Given the description of an element on the screen output the (x, y) to click on. 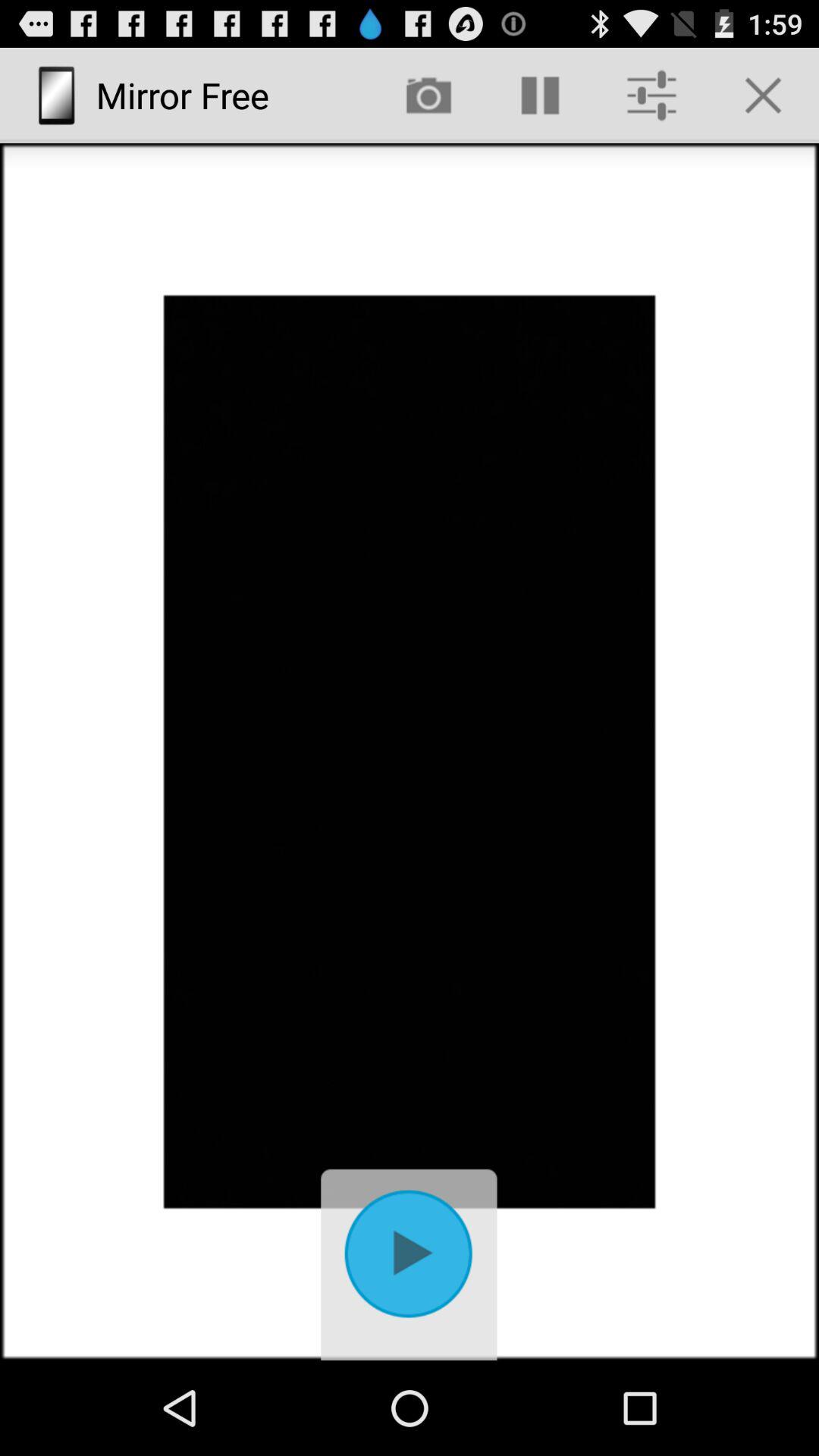
tap the icon at the bottom (409, 1260)
